Given the description of an element on the screen output the (x, y) to click on. 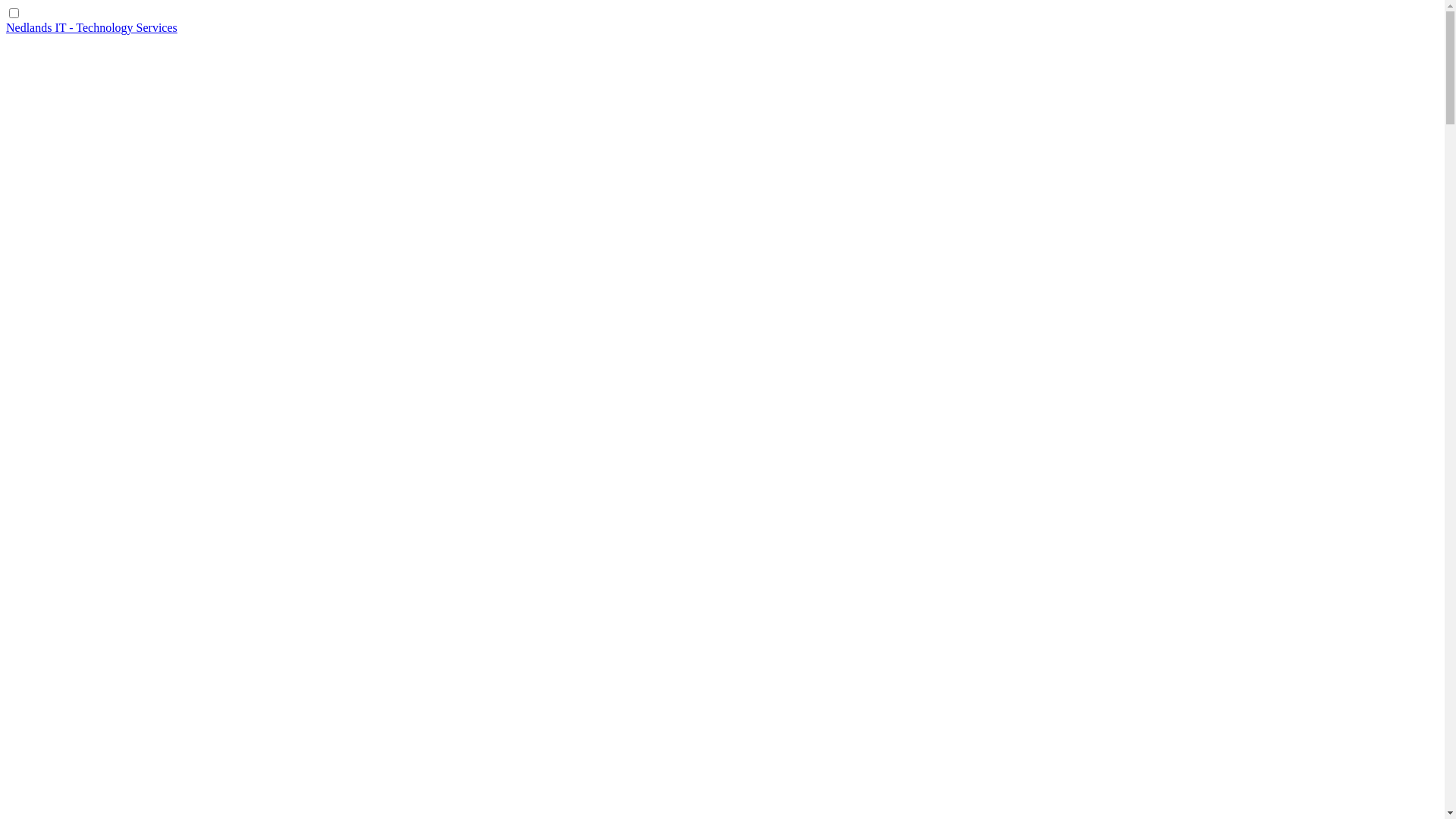
Nedlands IT - Technology Services Element type: text (91, 27)
